Given the description of an element on the screen output the (x, y) to click on. 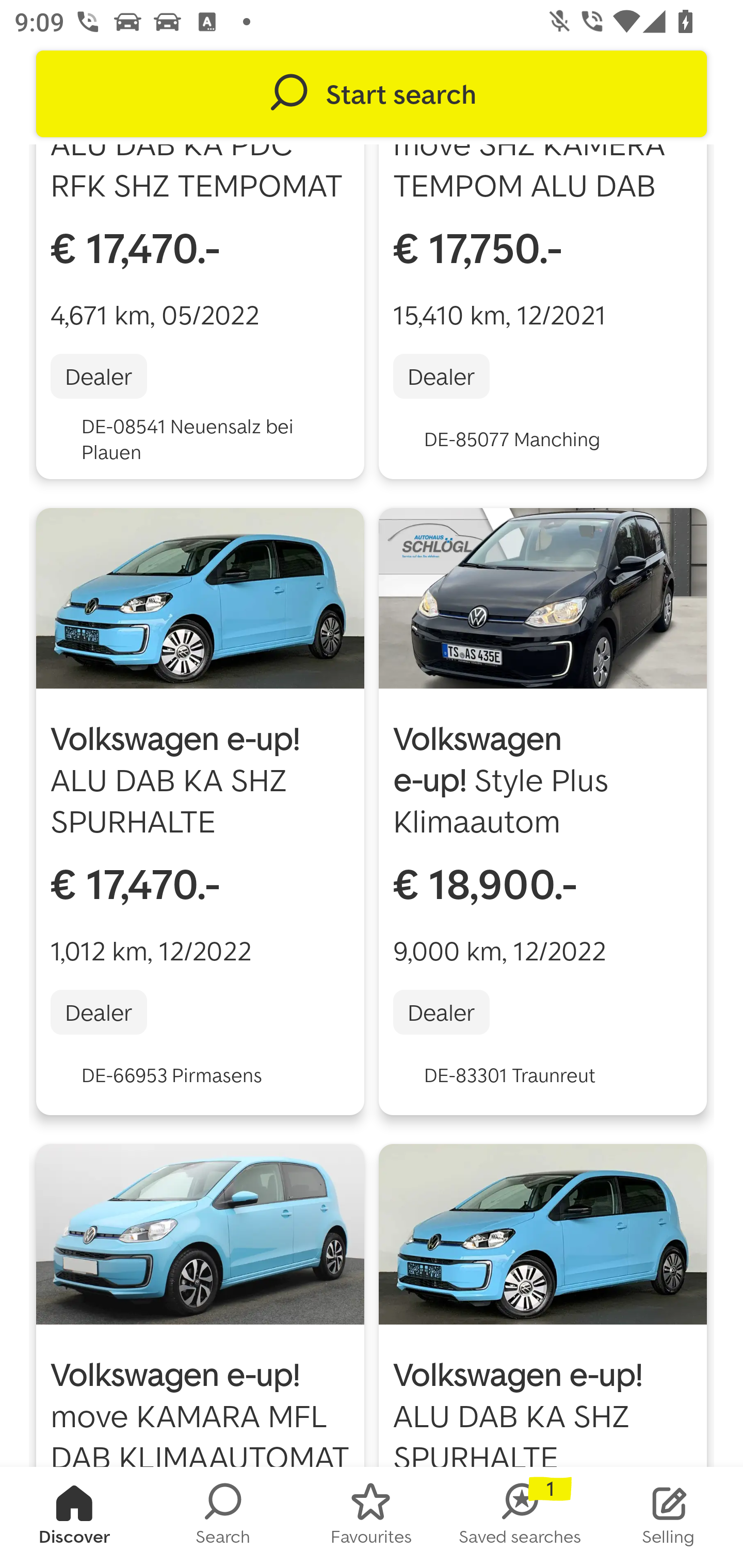
Start search (371, 93)
HOMESCREEN Discover (74, 1517)
SEARCH Search (222, 1517)
FAVORITES Favourites (371, 1517)
SAVED_SEARCHES Saved searches 1 (519, 1517)
STOCK_LIST Selling (668, 1517)
